Given the description of an element on the screen output the (x, y) to click on. 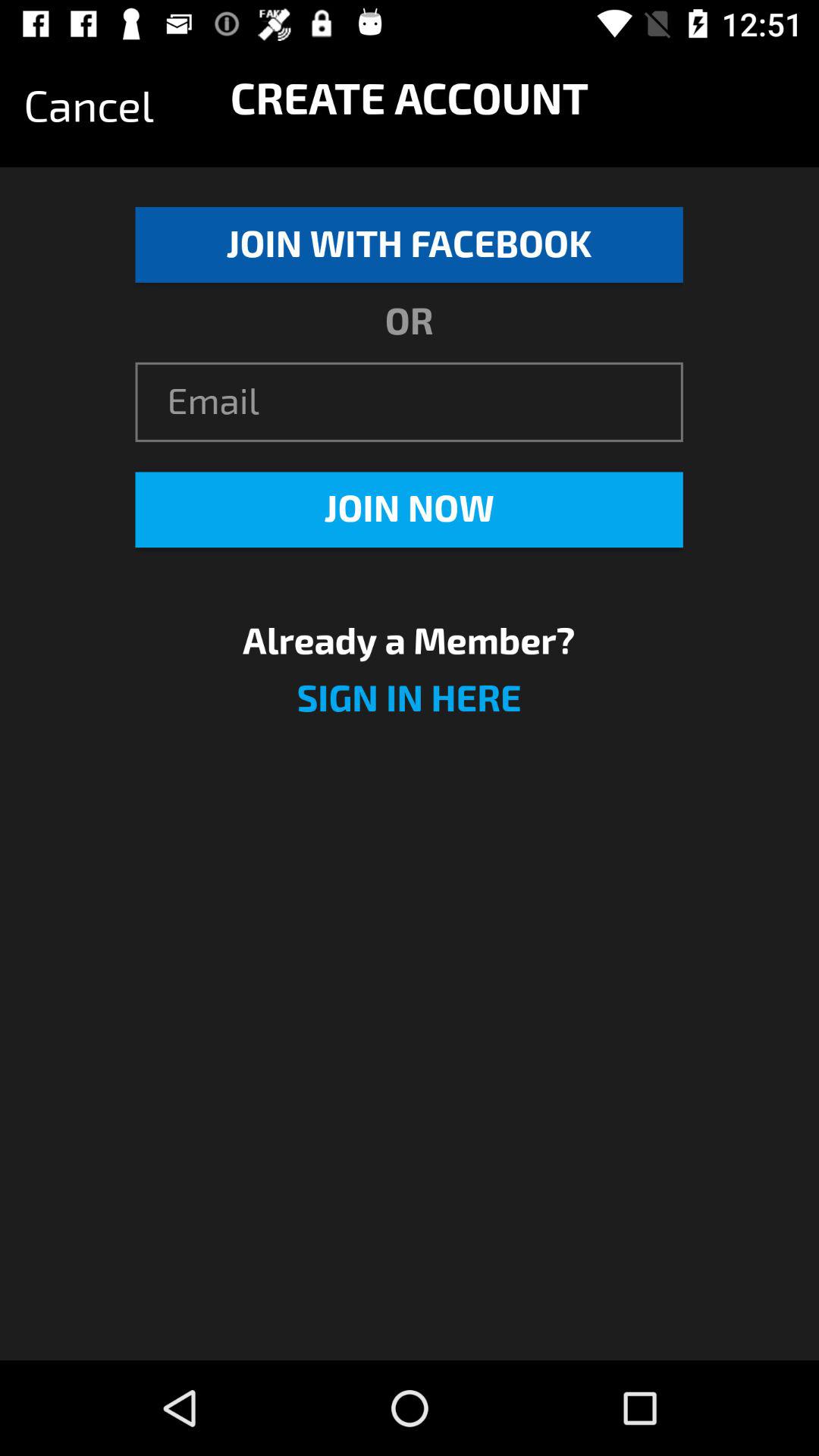
launch the item below or (409, 401)
